Given the description of an element on the screen output the (x, y) to click on. 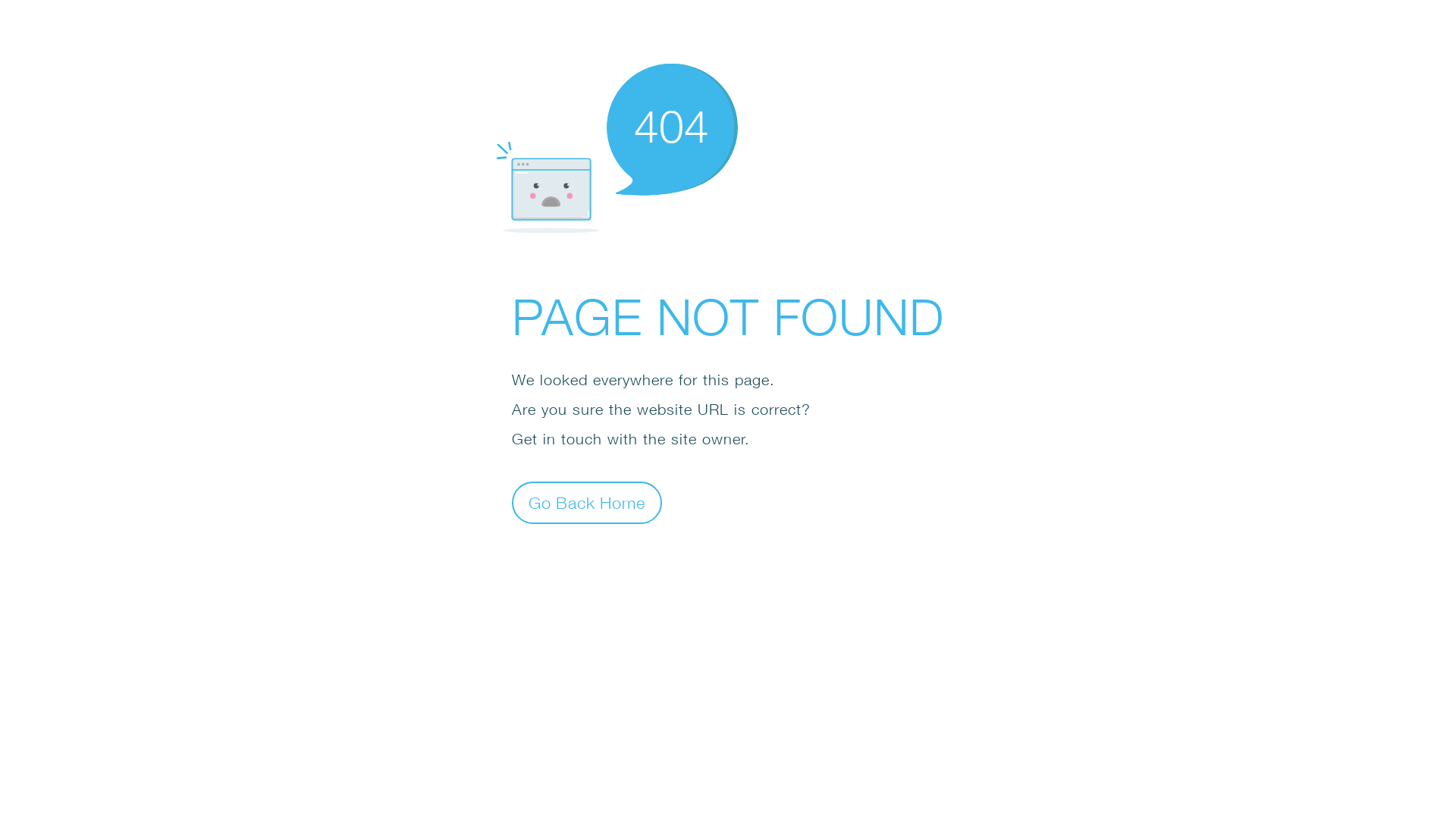
Go Back Home Element type: text (586, 502)
